Given the description of an element on the screen output the (x, y) to click on. 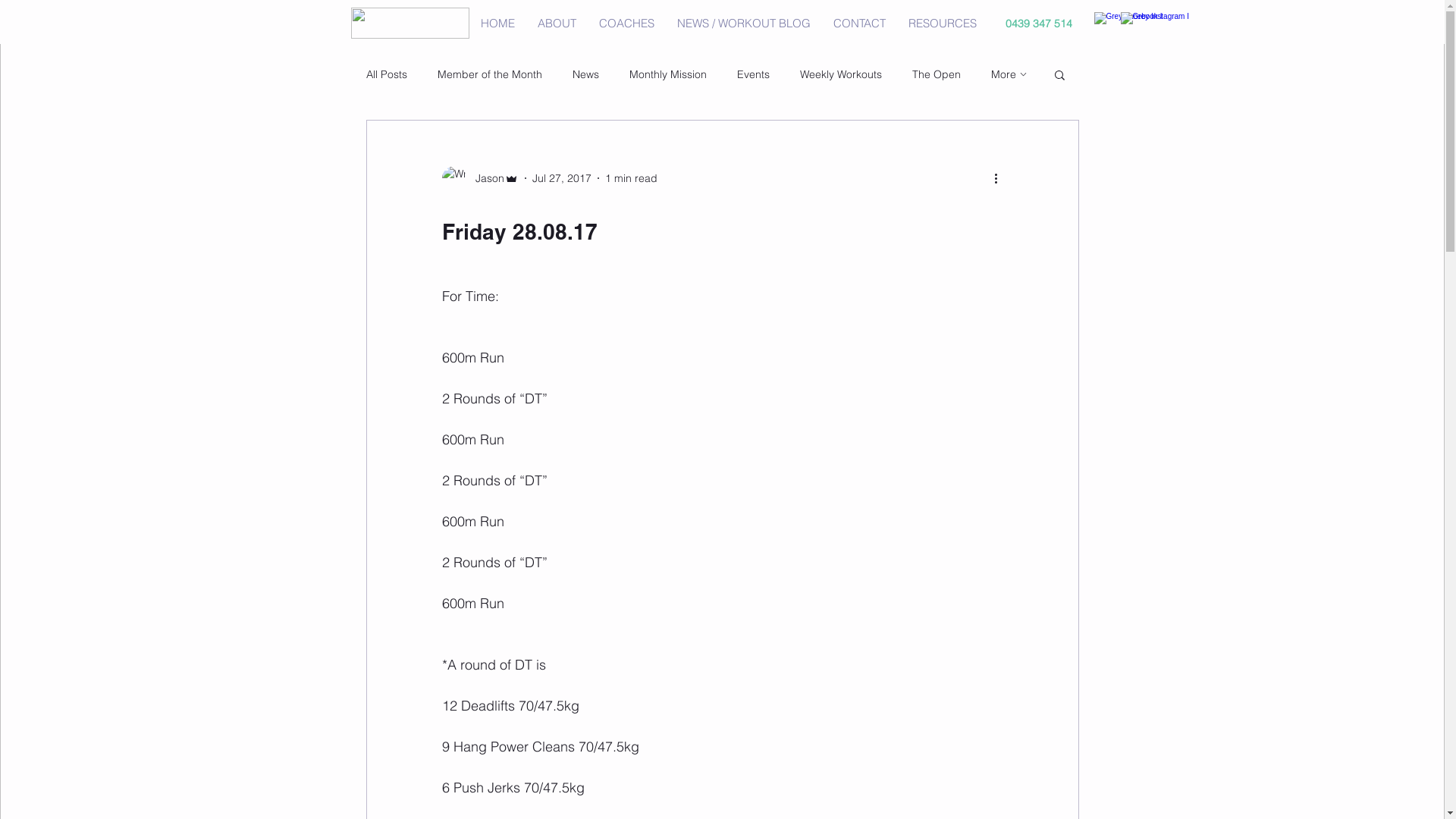
The Open Element type: text (935, 74)
News Element type: text (584, 74)
NEWS / WORKOUT BLOG Element type: text (743, 23)
CONTACT Element type: text (859, 23)
Member of the Month Element type: text (488, 74)
Monthly Mission Element type: text (667, 74)
COACHES Element type: text (625, 23)
RESOURCES Element type: text (941, 23)
All Posts Element type: text (385, 74)
ABOUT Element type: text (556, 23)
Jason Element type: text (479, 178)
HOME Element type: text (496, 23)
Weekly Workouts Element type: text (840, 74)
Events Element type: text (753, 74)
